Given the description of an element on the screen output the (x, y) to click on. 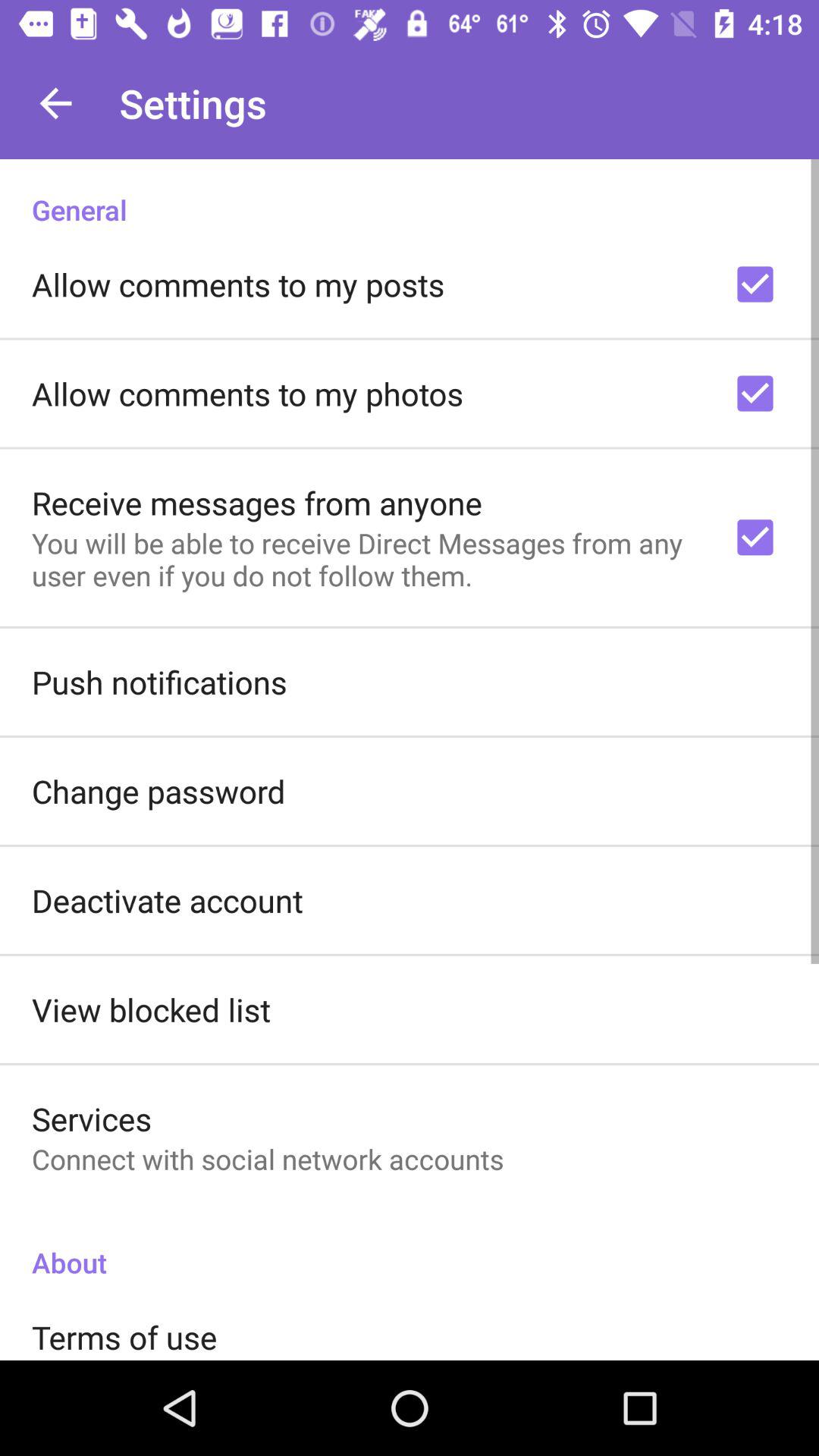
jump to the services (91, 1118)
